Given the description of an element on the screen output the (x, y) to click on. 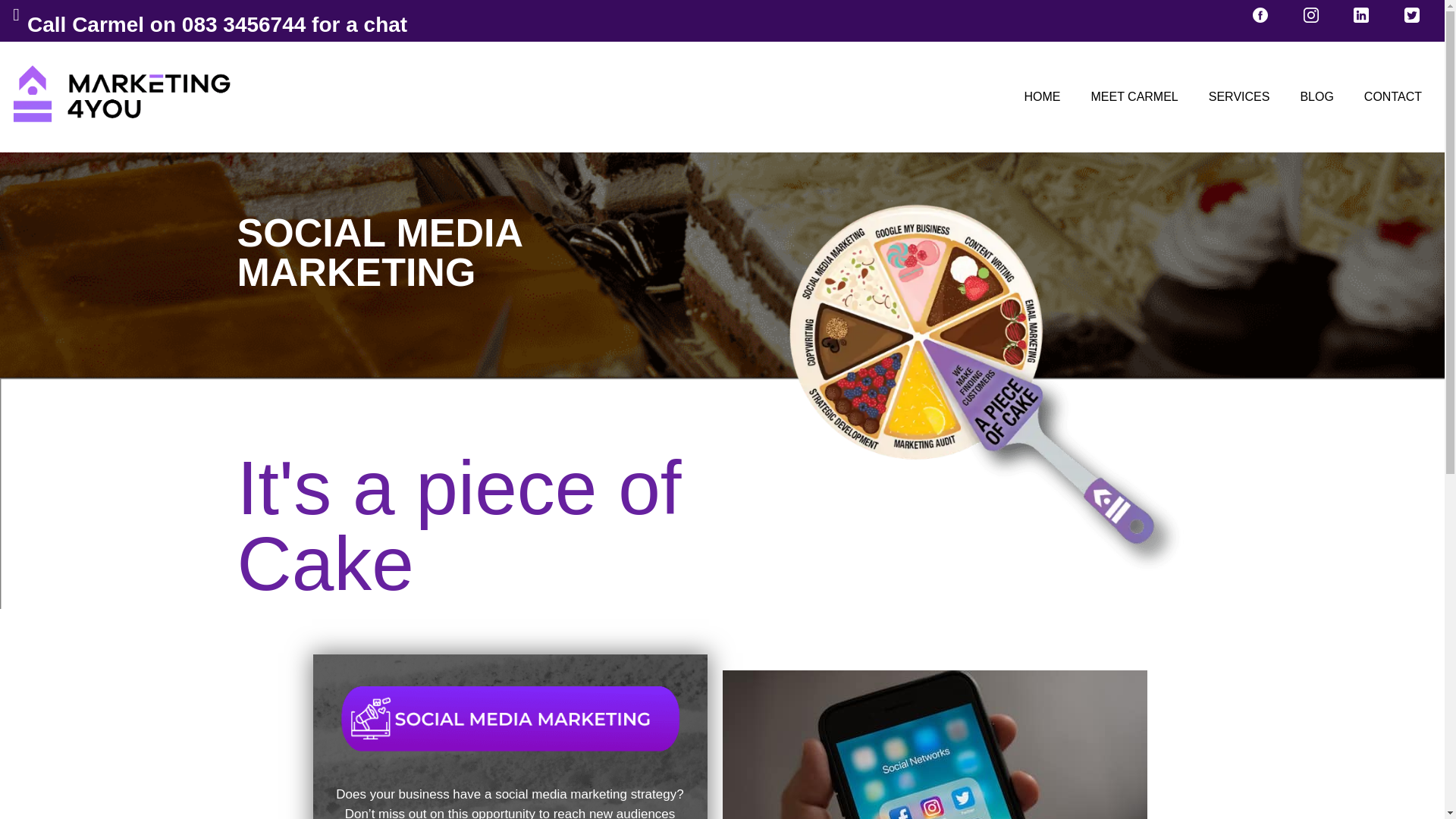
HOME (1042, 96)
MEET CARMEL (1133, 96)
SERVICES (1239, 96)
CONTACT (1393, 96)
BLOG (1316, 96)
